Given the description of an element on the screen output the (x, y) to click on. 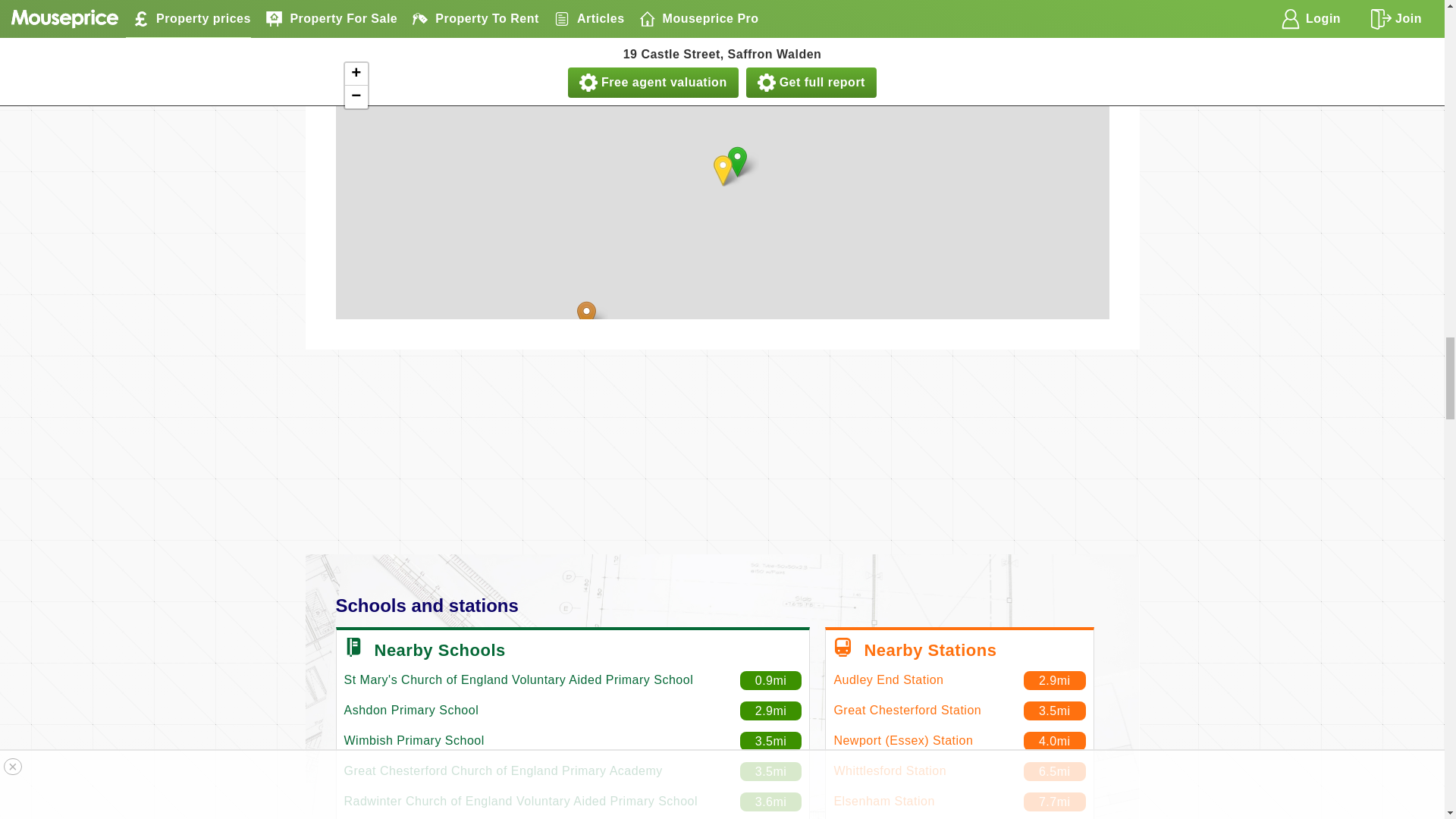
Zoom in (354, 74)
Zoom out (354, 96)
